Given the description of an element on the screen output the (x, y) to click on. 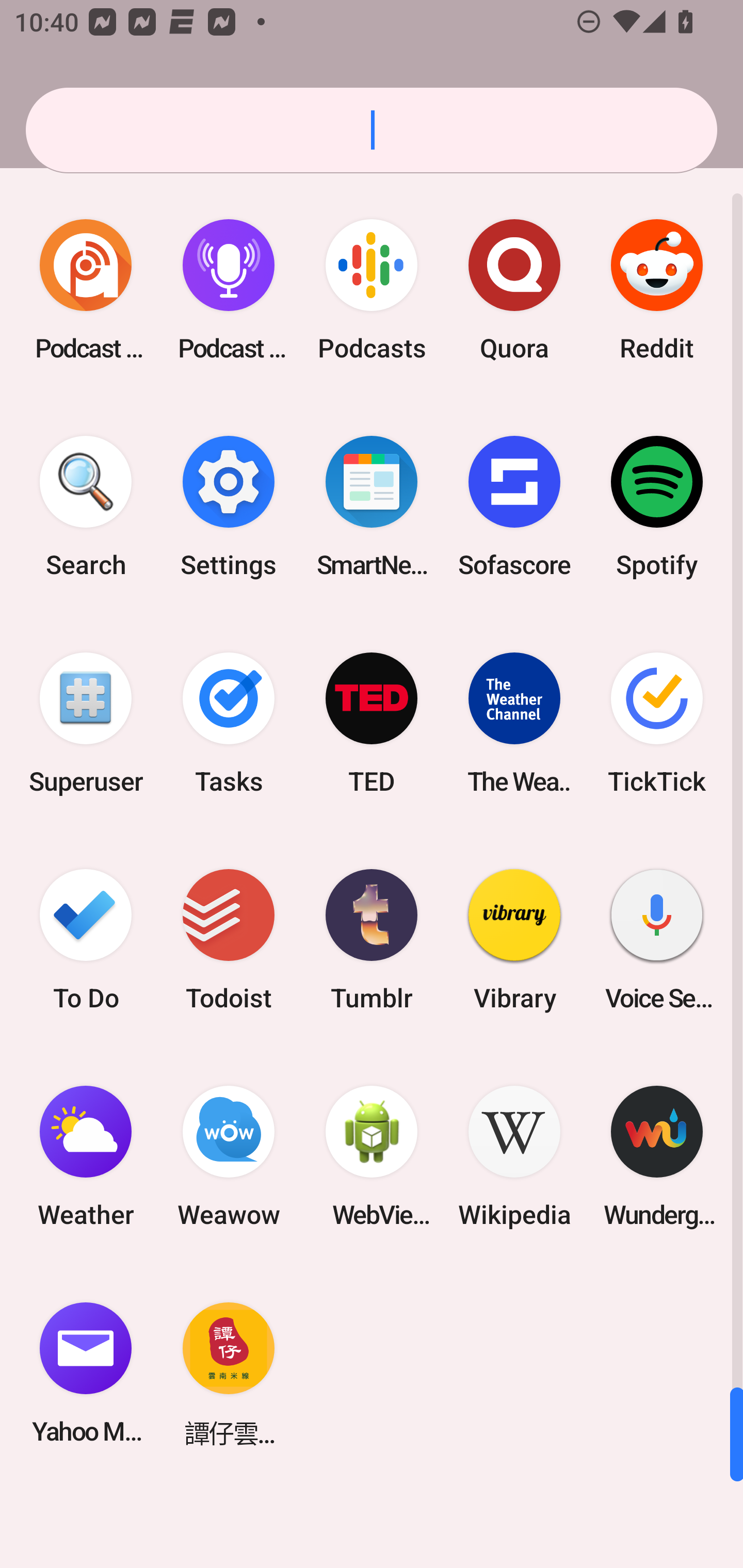
  Search apps (371, 130)
Podcast Addict (85, 289)
Podcast Player (228, 289)
Podcasts (371, 289)
Quora (514, 289)
Reddit (656, 289)
Search (85, 506)
Settings (228, 506)
SmartNews (371, 506)
Sofascore (514, 506)
Spotify (656, 506)
Superuser (85, 722)
Tasks (228, 722)
TED (371, 722)
The Weather Channel (514, 722)
TickTick (656, 722)
To Do (85, 939)
Todoist (228, 939)
Tumblr (371, 939)
Vibrary (514, 939)
Voice Search (656, 939)
Weather (85, 1156)
Weawow (228, 1156)
WebView Browser Tester (371, 1156)
Wikipedia (514, 1156)
Wunderground (656, 1156)
Yahoo Mail (85, 1373)
譚仔雲南米線 (228, 1373)
